Given the description of an element on the screen output the (x, y) to click on. 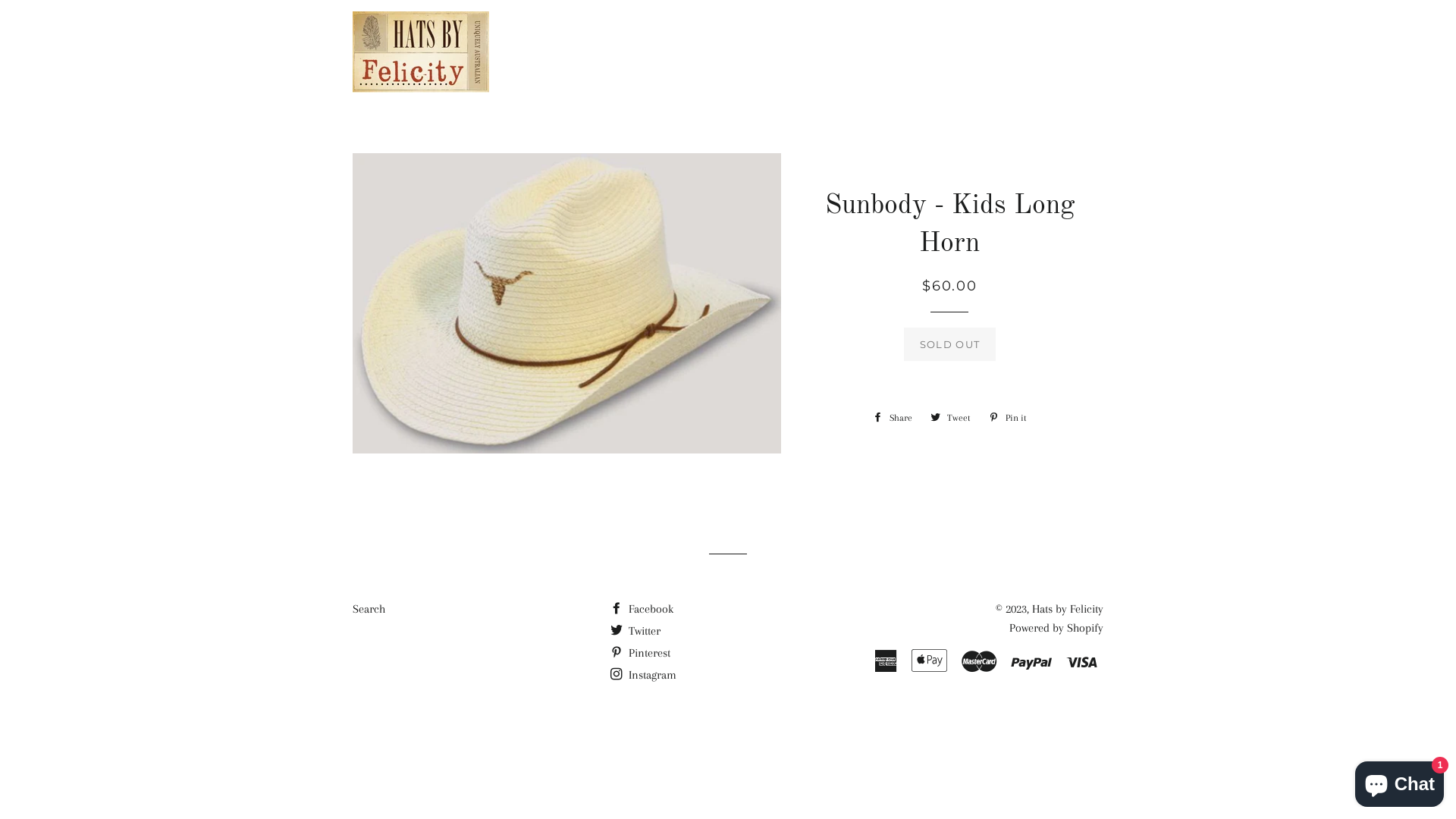
Pin it
Pin on Pinterest Element type: text (1007, 417)
Hats by Felicity Element type: text (1067, 608)
Facebook Element type: text (641, 608)
Tweet
Tweet on Twitter Element type: text (950, 417)
Instagram Element type: text (643, 674)
Powered by Shopify Element type: text (1056, 627)
Twitter Element type: text (635, 630)
Share
Share on Facebook Element type: text (892, 417)
Search Element type: text (368, 608)
SOLD OUT Element type: text (949, 343)
Shopify online store chat Element type: hover (1399, 780)
Pinterest Element type: text (640, 652)
